Given the description of an element on the screen output the (x, y) to click on. 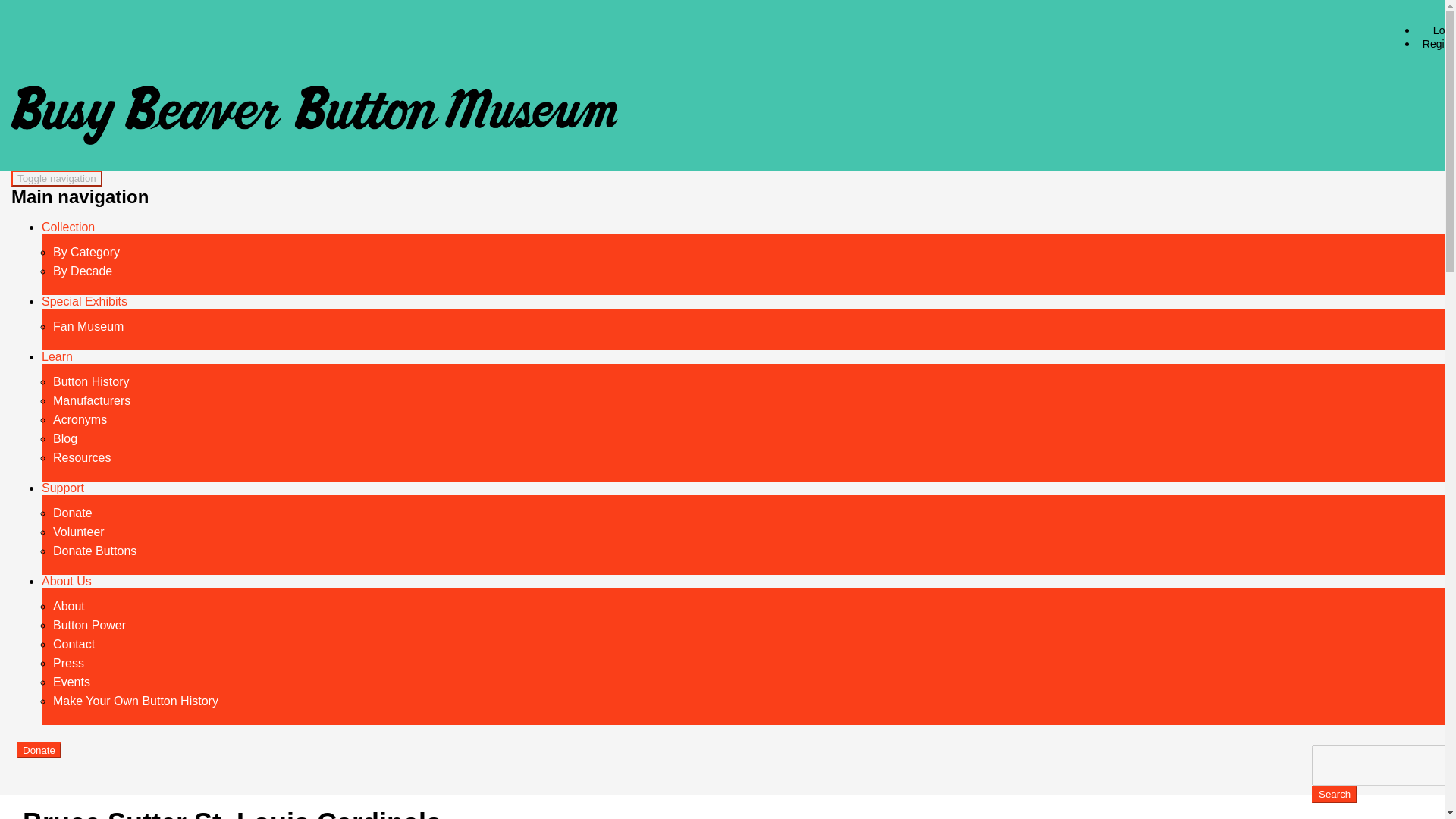
Manufacturers (91, 400)
Resources (81, 456)
Events (71, 680)
Register (1436, 43)
Donate Buttons (94, 550)
Donate (38, 749)
By Category (85, 251)
About (68, 604)
Volunteer (78, 530)
Home (314, 110)
Collection (68, 226)
Learn (57, 356)
Press (68, 662)
Button Power (88, 625)
